Given the description of an element on the screen output the (x, y) to click on. 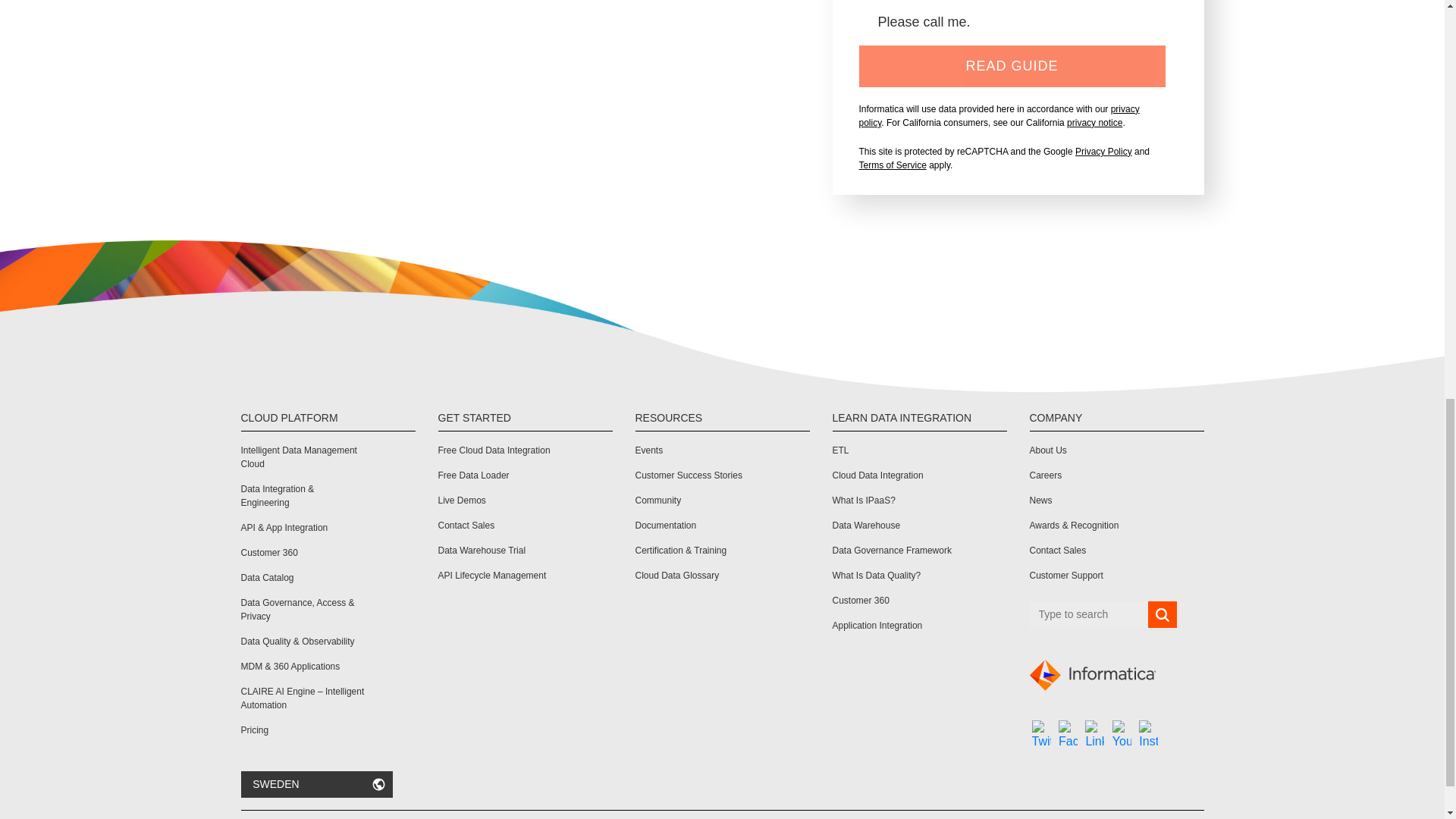
Terms of Service (892, 164)
Privacy Policy (1103, 151)
privacy notice (1094, 122)
Insert a query. Press enter to send (1088, 614)
privacy policy (998, 115)
READ GUIDE (1011, 65)
Search (1162, 614)
